Given the description of an element on the screen output the (x, y) to click on. 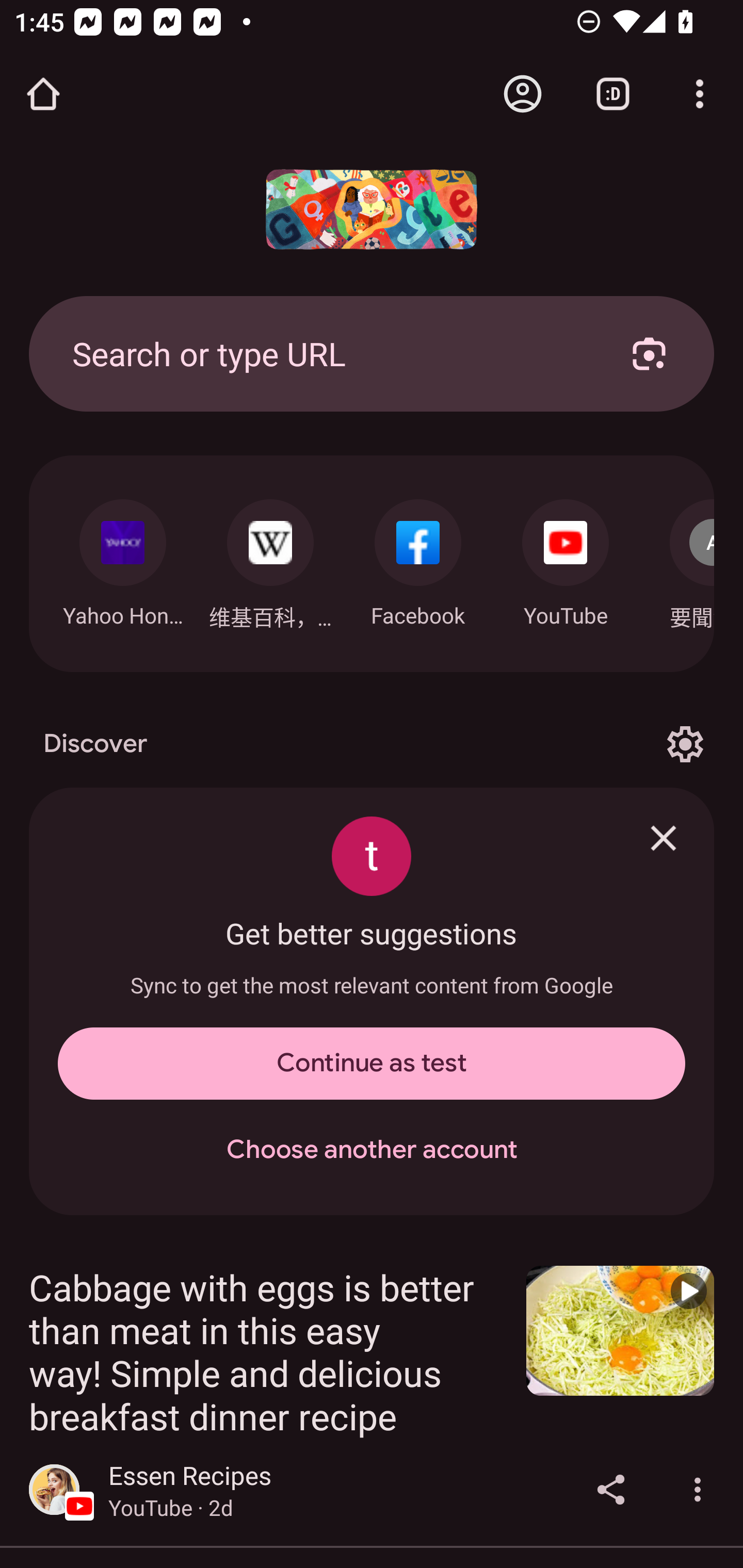
Open the home page (43, 93)
Switch or close tabs (612, 93)
Customize and control Google Chrome (699, 93)
Google doodle: 2024 年國際婦女節 (371, 209)
Search or type URL (327, 353)
Search with your camera using Google Lens (648, 353)
Navigate: Facebook: m.facebook.com Facebook (417, 558)
Navigate: YouTube: m.youtube.com YouTube (565, 558)
Options for Discover (684, 743)
Close (663, 837)
Continue as test (371, 1063)
Choose another account (371, 1150)
